Given the description of an element on the screen output the (x, y) to click on. 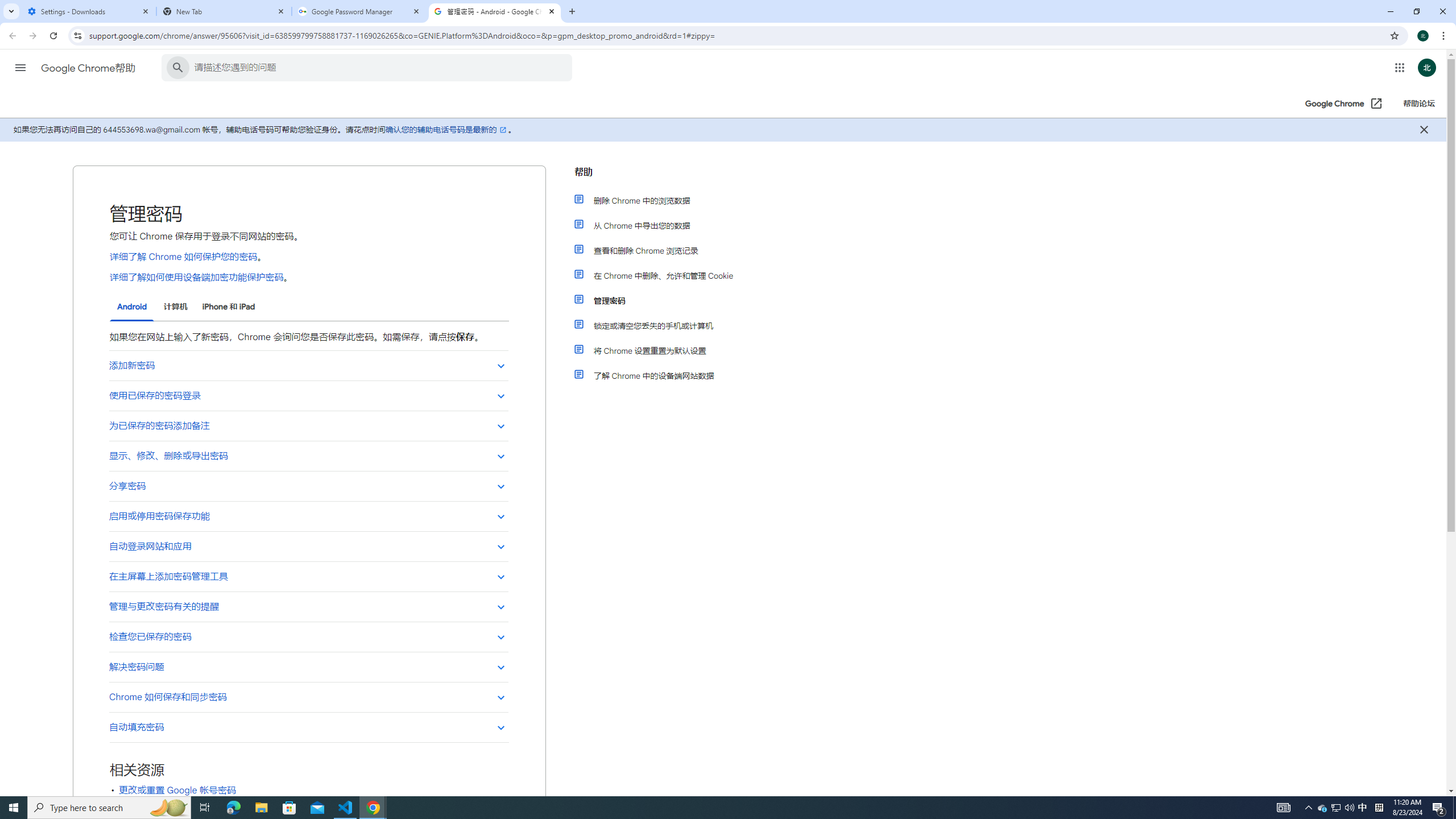
Google Password Manager (359, 11)
Address and search bar (735, 35)
